Given the description of an element on the screen output the (x, y) to click on. 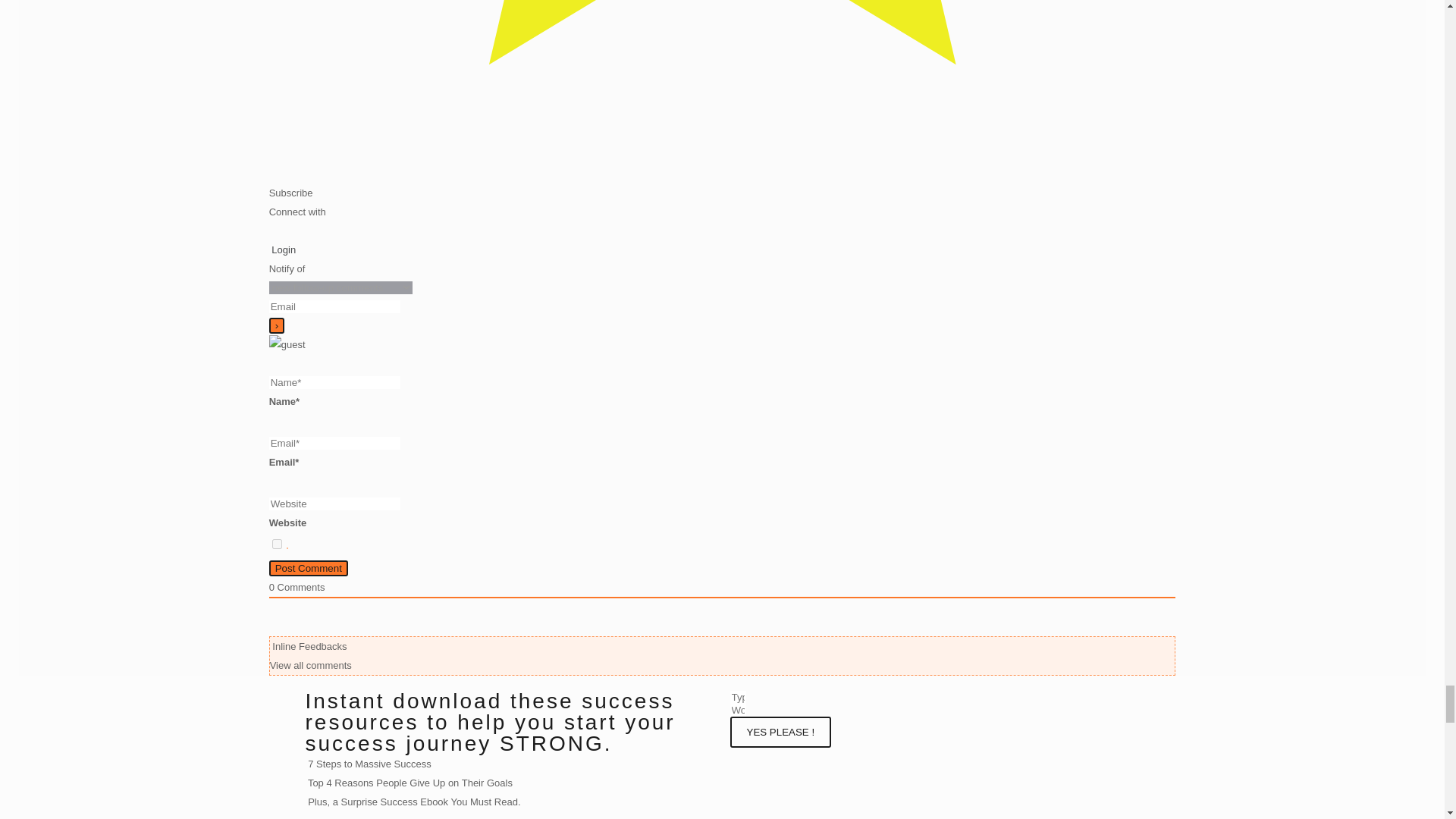
Post Comment (308, 568)
comment (277, 543)
